Given the description of an element on the screen output the (x, y) to click on. 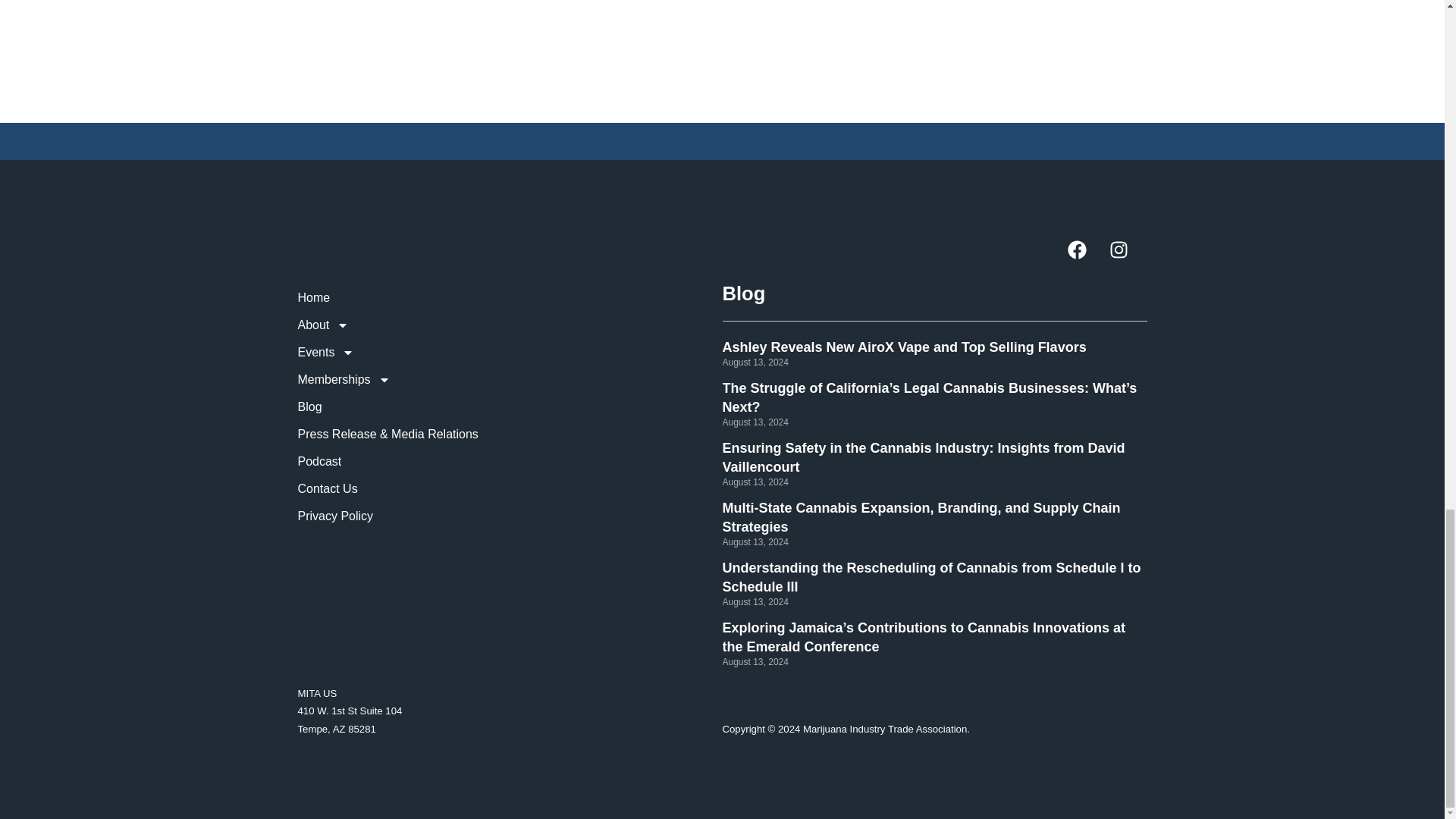
Home (509, 298)
Instagram (1127, 259)
Facebook (1086, 259)
Events (509, 352)
Memberships (509, 379)
Contact Us (509, 488)
Podcast (509, 461)
Blog (509, 406)
About (509, 325)
